Given the description of an element on the screen output the (x, y) to click on. 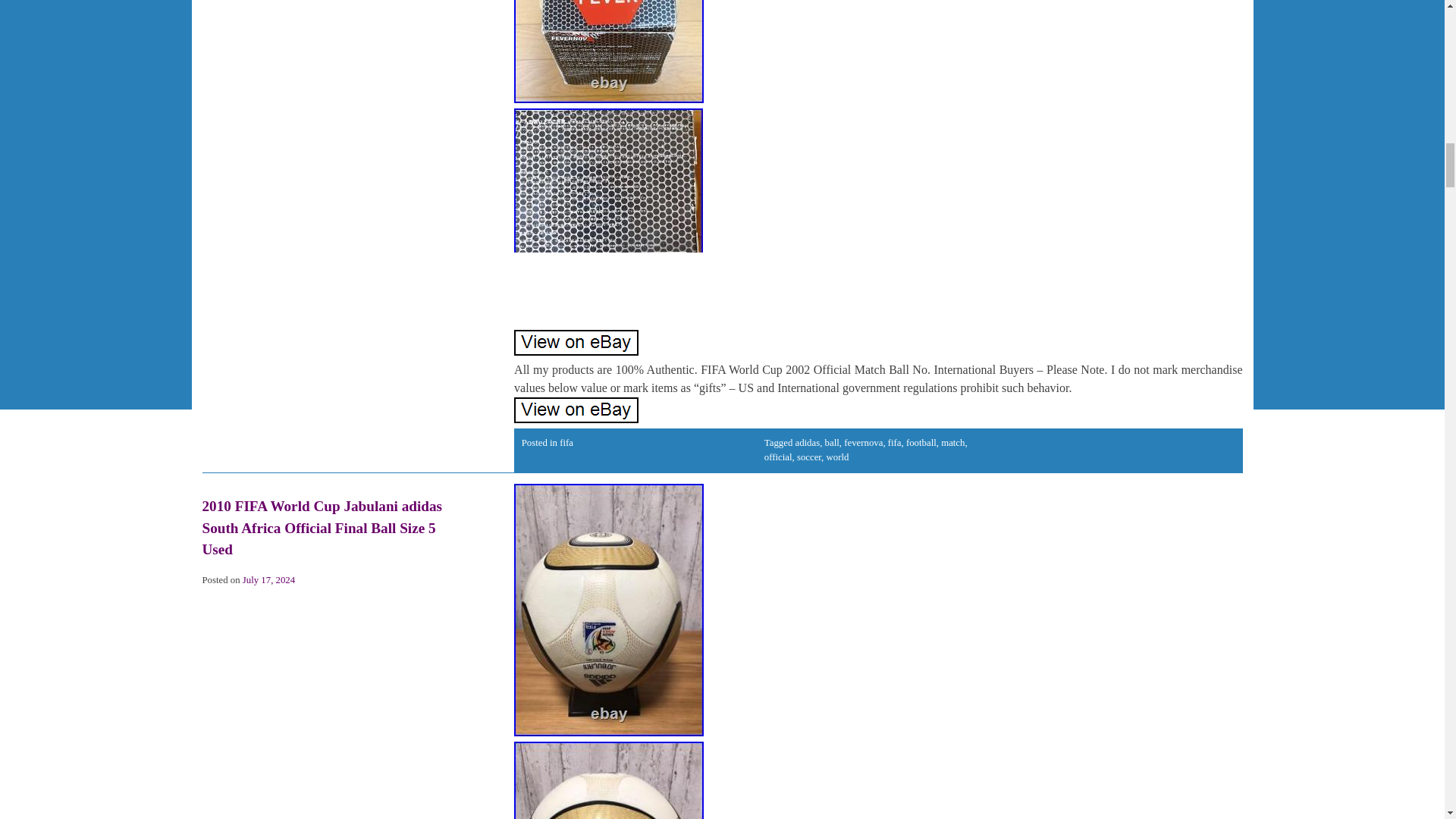
world (837, 457)
ball (832, 442)
fifa (894, 442)
fifa (566, 442)
July 17, 2024 (269, 579)
fevernova (863, 442)
